Given the description of an element on the screen output the (x, y) to click on. 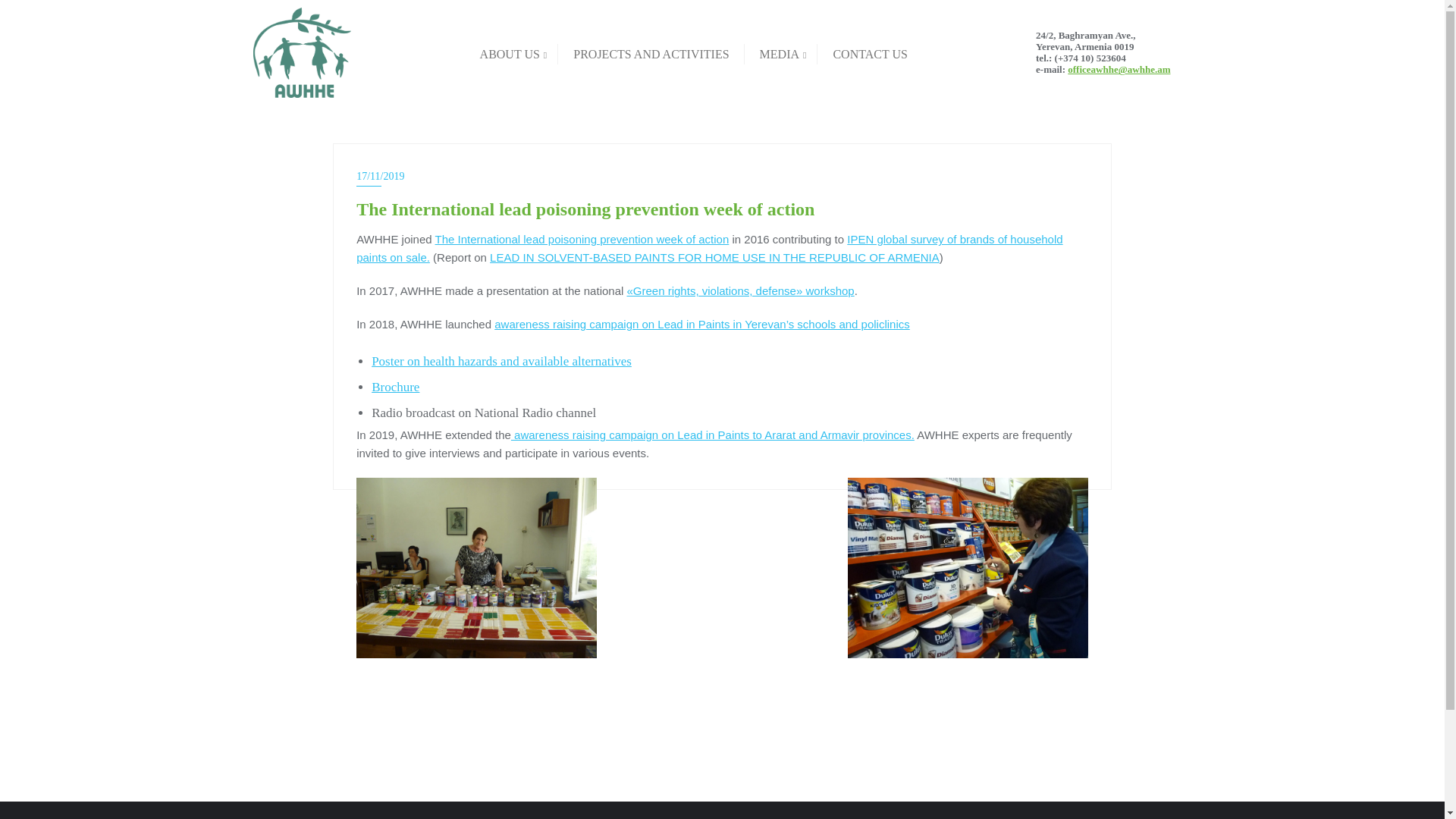
PROJECTS AND ACTIVITIES (650, 52)
MEDIA (781, 52)
ABOUT US (511, 52)
The International lead poisoning prevention week of action (582, 238)
IPEN global survey of brands of household paints on sale. (709, 247)
Brochure (395, 386)
Poster on health hazards and available alternatives (501, 360)
CONTACT US (868, 52)
